Given the description of an element on the screen output the (x, y) to click on. 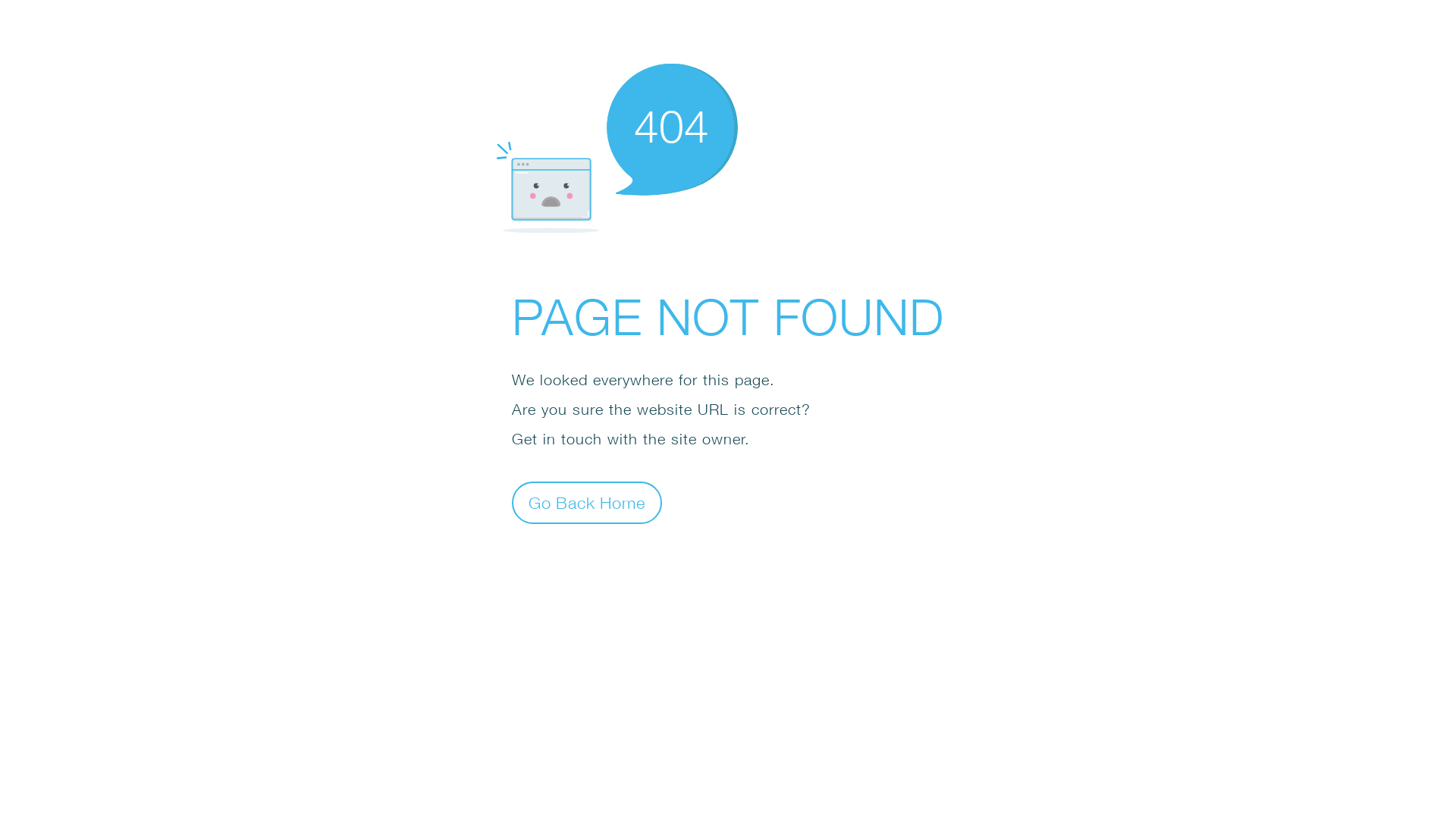
Go Back Home Element type: text (586, 502)
